Given the description of an element on the screen output the (x, y) to click on. 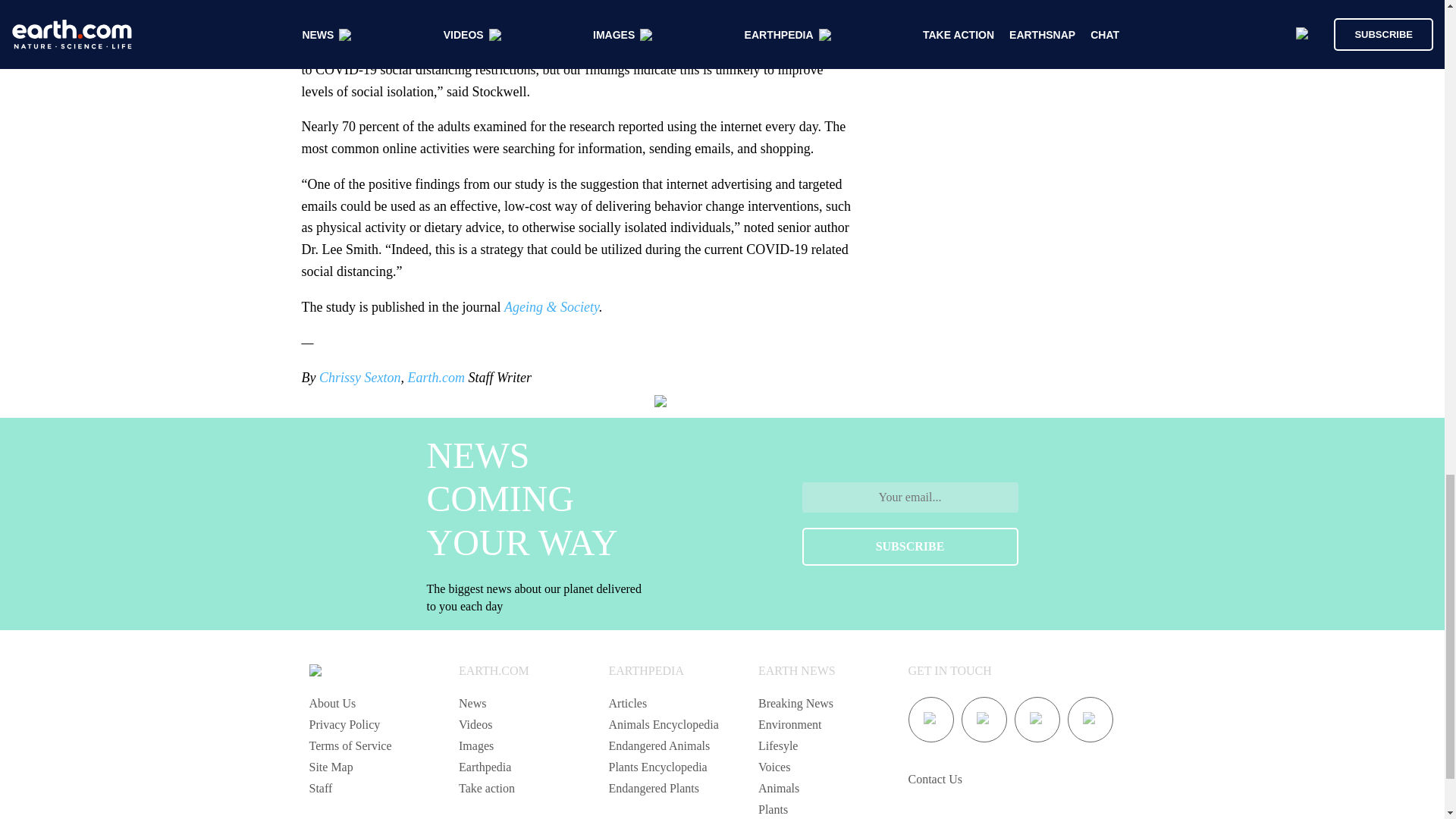
Chrissy Sexton (359, 377)
Earth.com (435, 377)
SUBSCRIBE (909, 546)
